Given the description of an element on the screen output the (x, y) to click on. 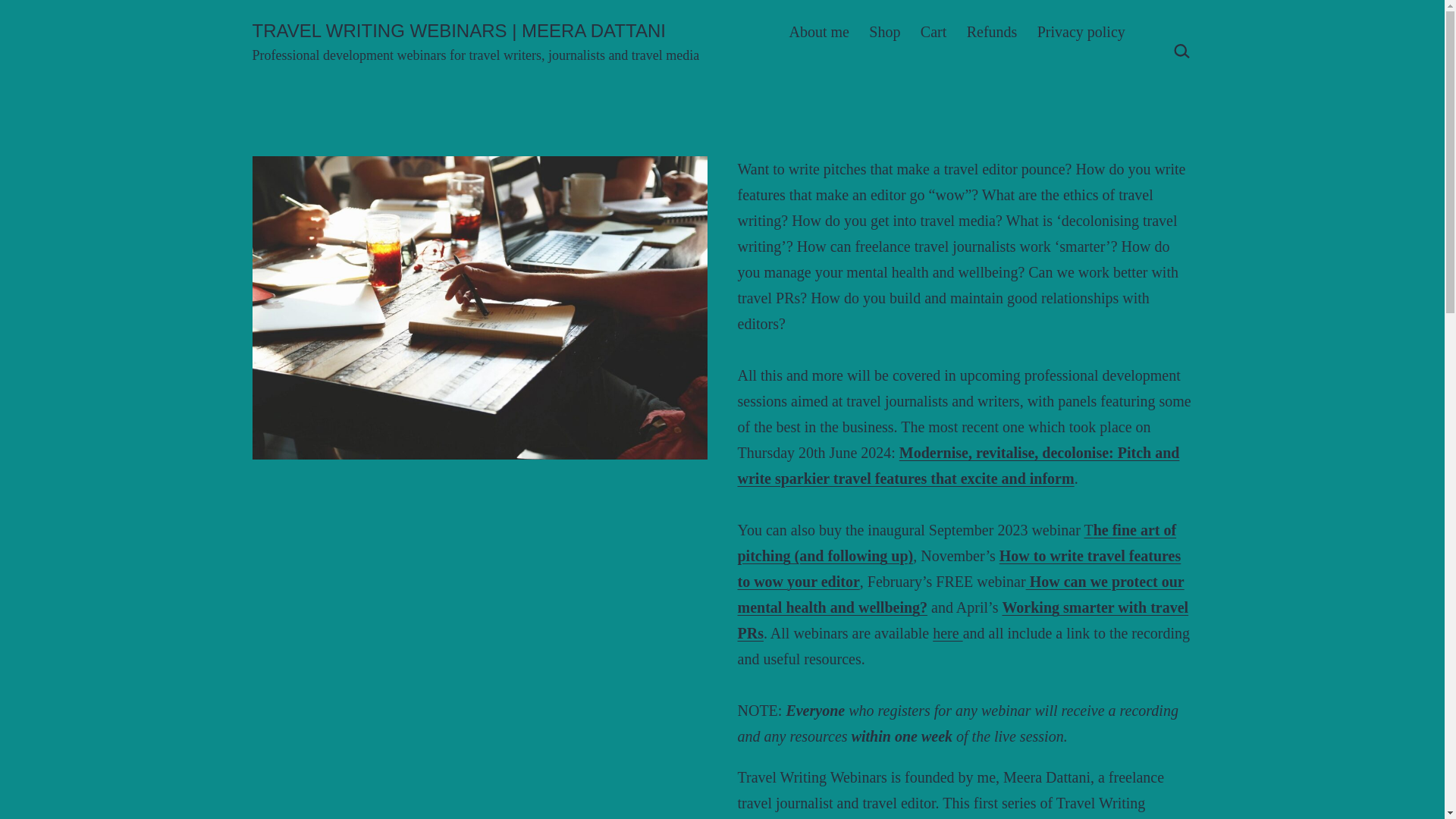
Cart (933, 31)
Refunds (991, 31)
Shop (885, 31)
here (947, 632)
How can we protect our mental health and wellbeing? (959, 594)
Working smarter with travel PRs (962, 619)
Privacy policy (1081, 31)
About me (818, 31)
How to write travel features to wow your editor (958, 568)
